Given the description of an element on the screen output the (x, y) to click on. 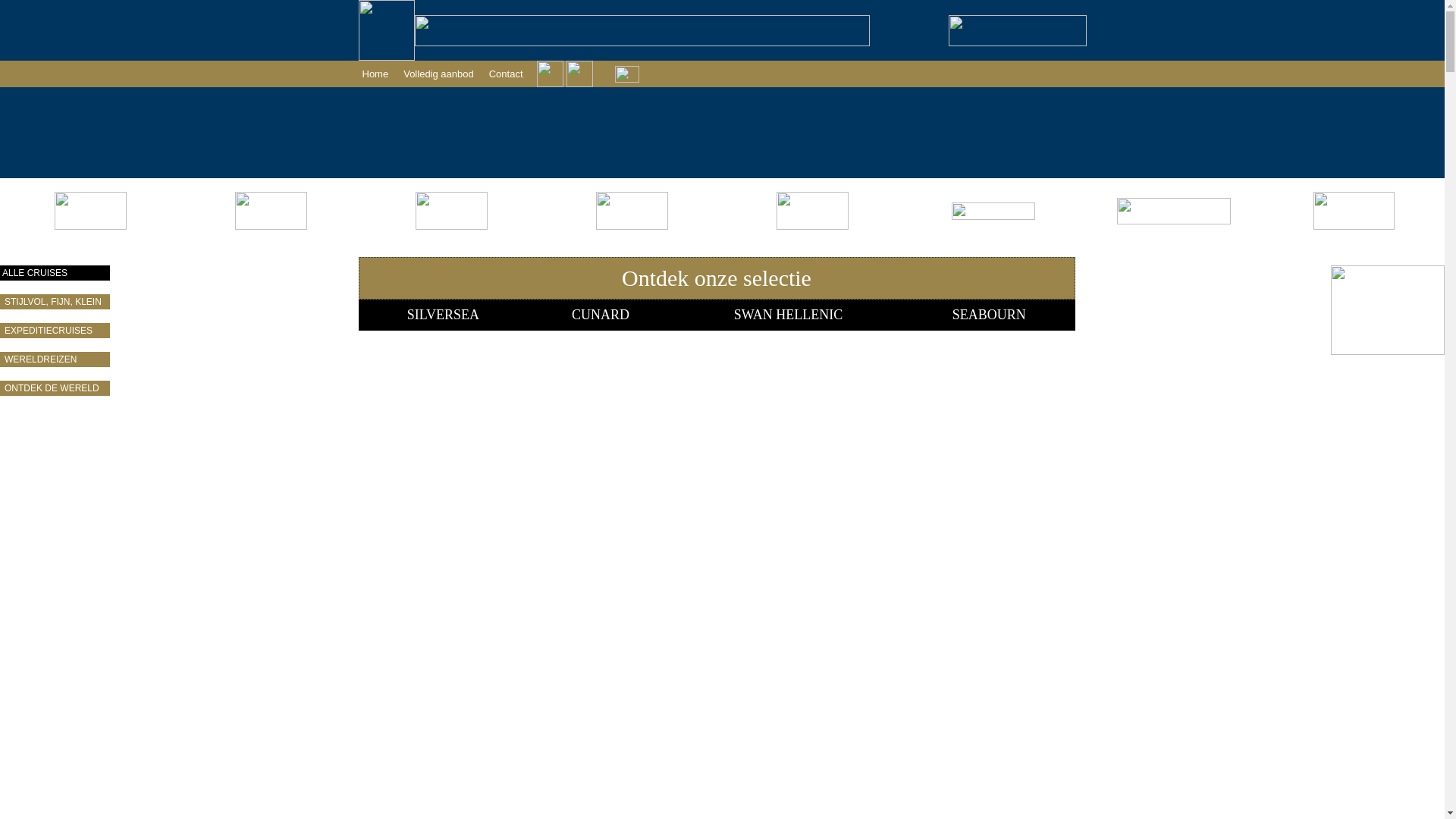
SWAN HELLENIC Element type: text (788, 314)
Home Element type: text (374, 73)
CUNARD Element type: text (600, 314)
Volledig aanbod Element type: text (438, 73)
SEABOURN Element type: text (988, 314)
SILVERSEA Element type: text (442, 314)
Contact Element type: text (506, 73)
